Given the description of an element on the screen output the (x, y) to click on. 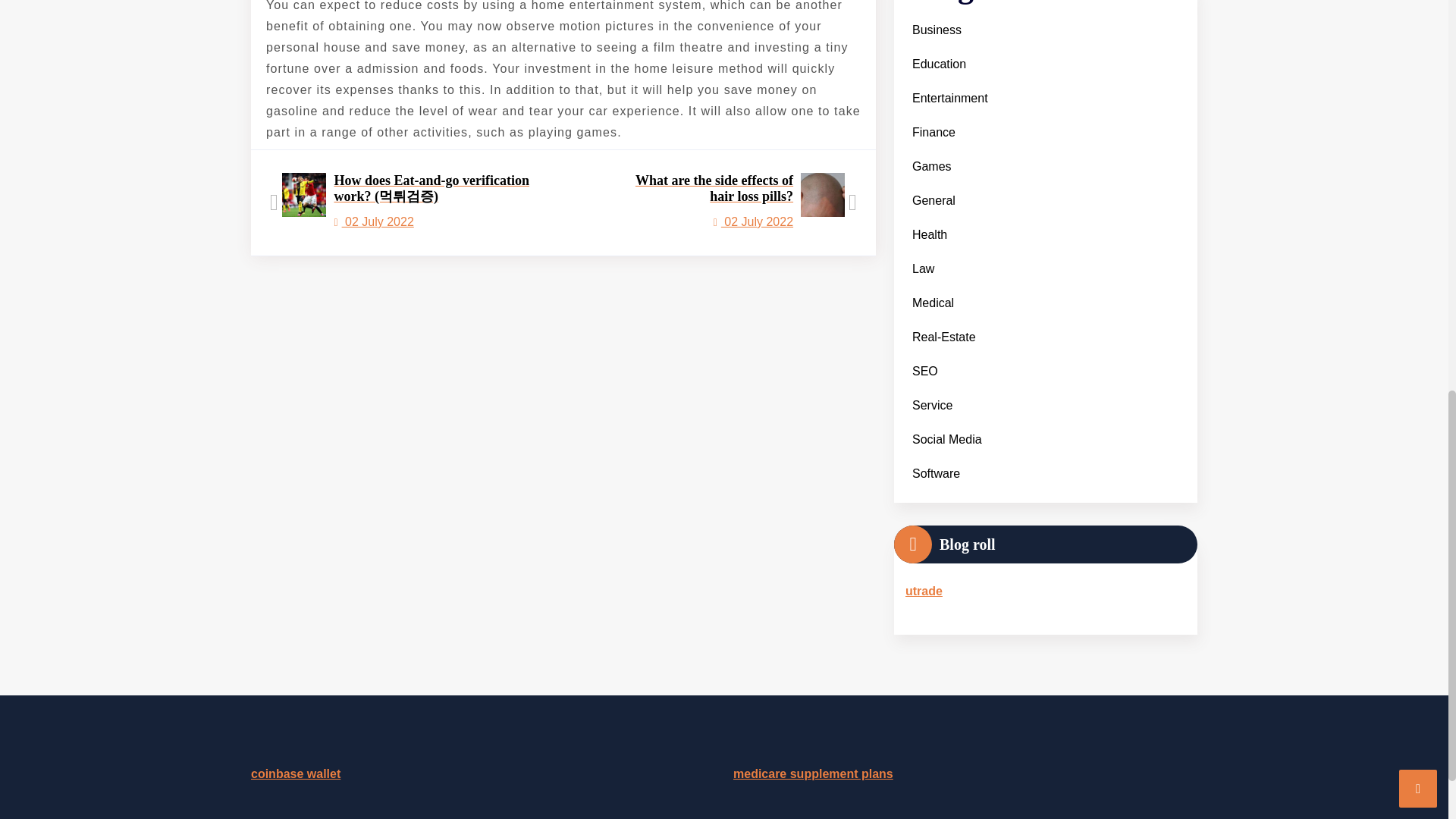
Finance (723, 202)
Games (933, 131)
Education (931, 166)
Business (938, 63)
Entertainment (935, 29)
